Given the description of an element on the screen output the (x, y) to click on. 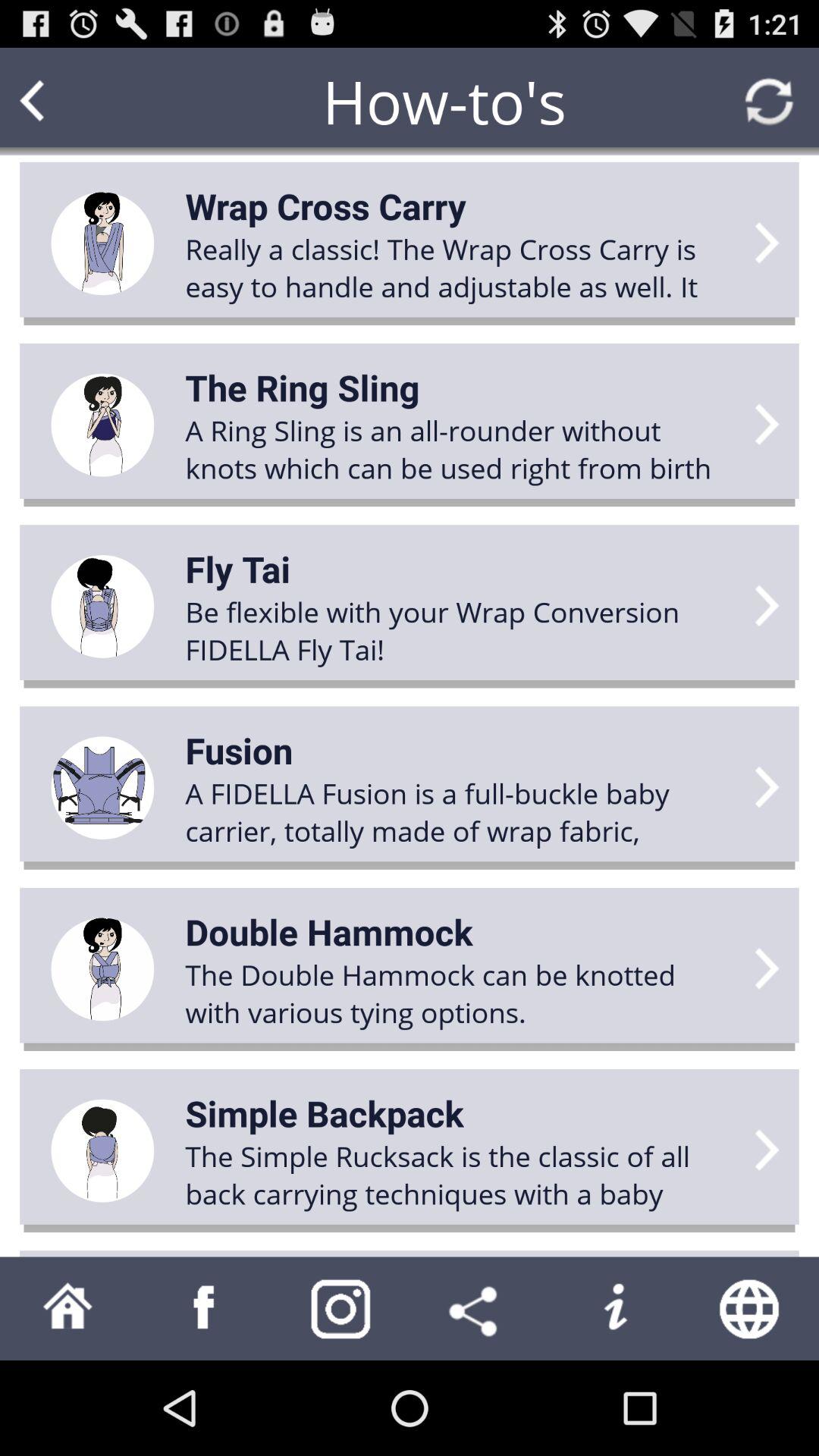
refresh list (769, 101)
